Given the description of an element on the screen output the (x, y) to click on. 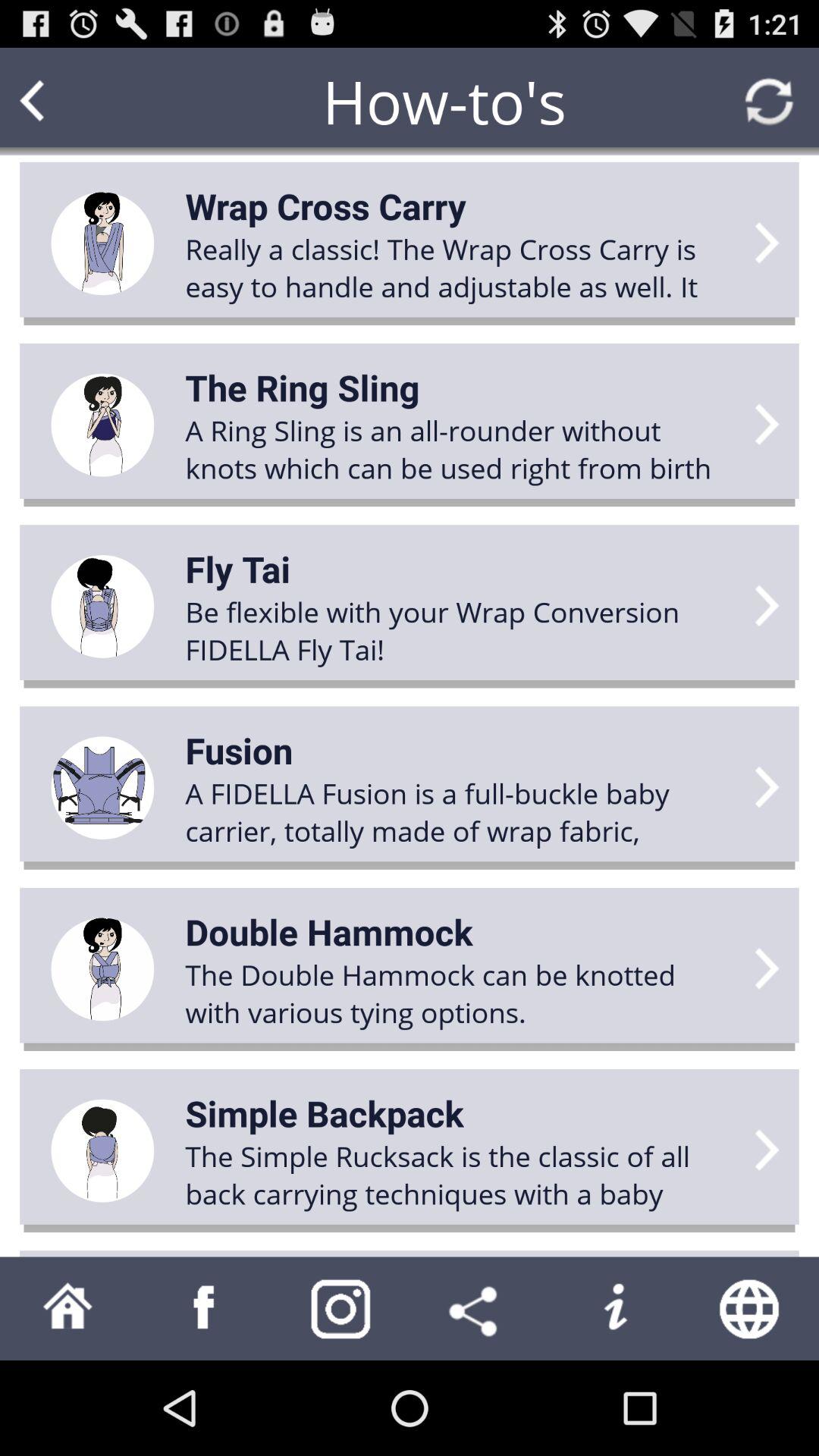
refresh list (769, 101)
